Given the description of an element on the screen output the (x, y) to click on. 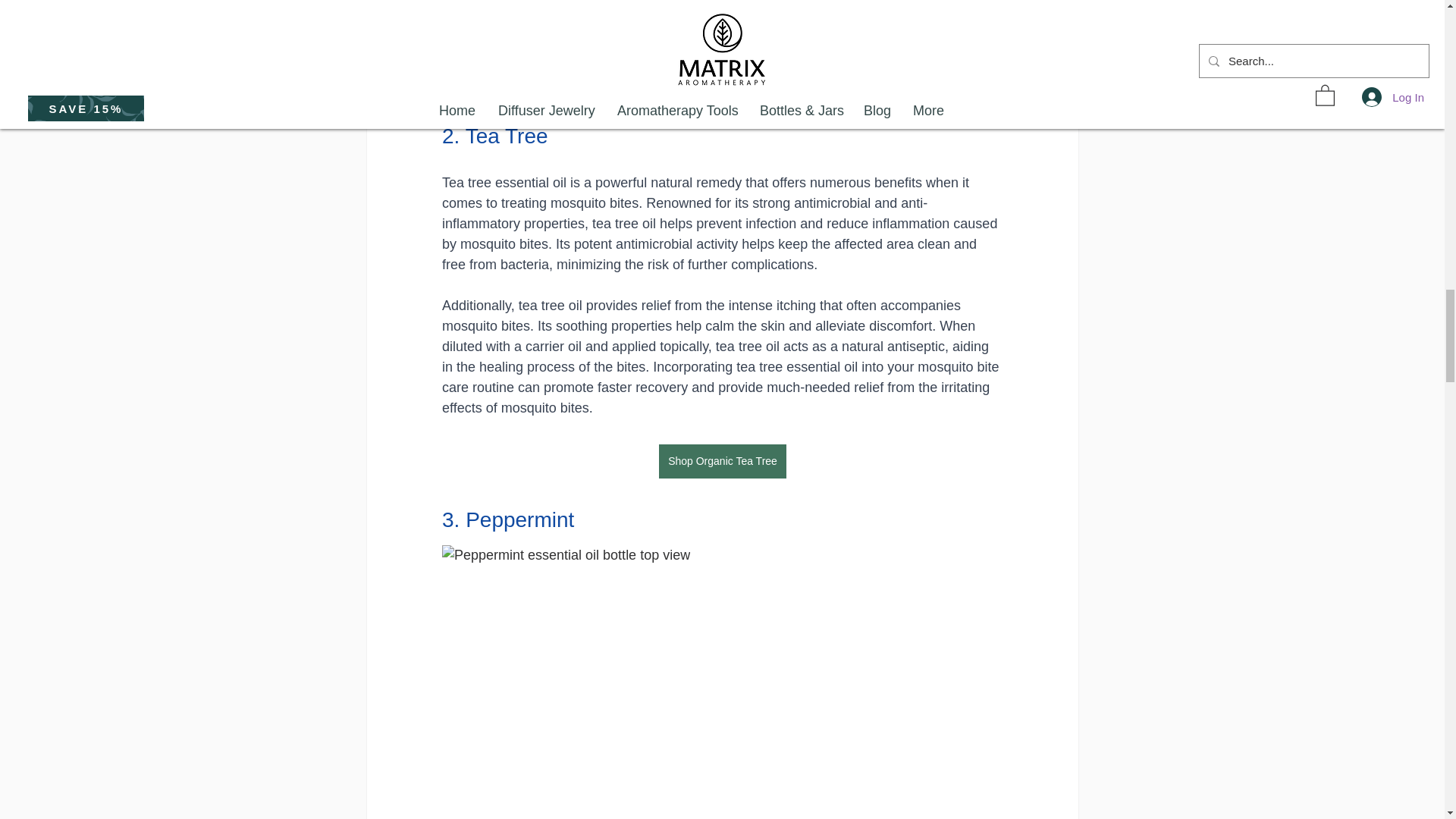
Shop Organic Tea Tree (722, 461)
3. Peppermint (507, 519)
Shop Organic Lavender (722, 77)
2. Tea Tree (494, 136)
